Given the description of an element on the screen output the (x, y) to click on. 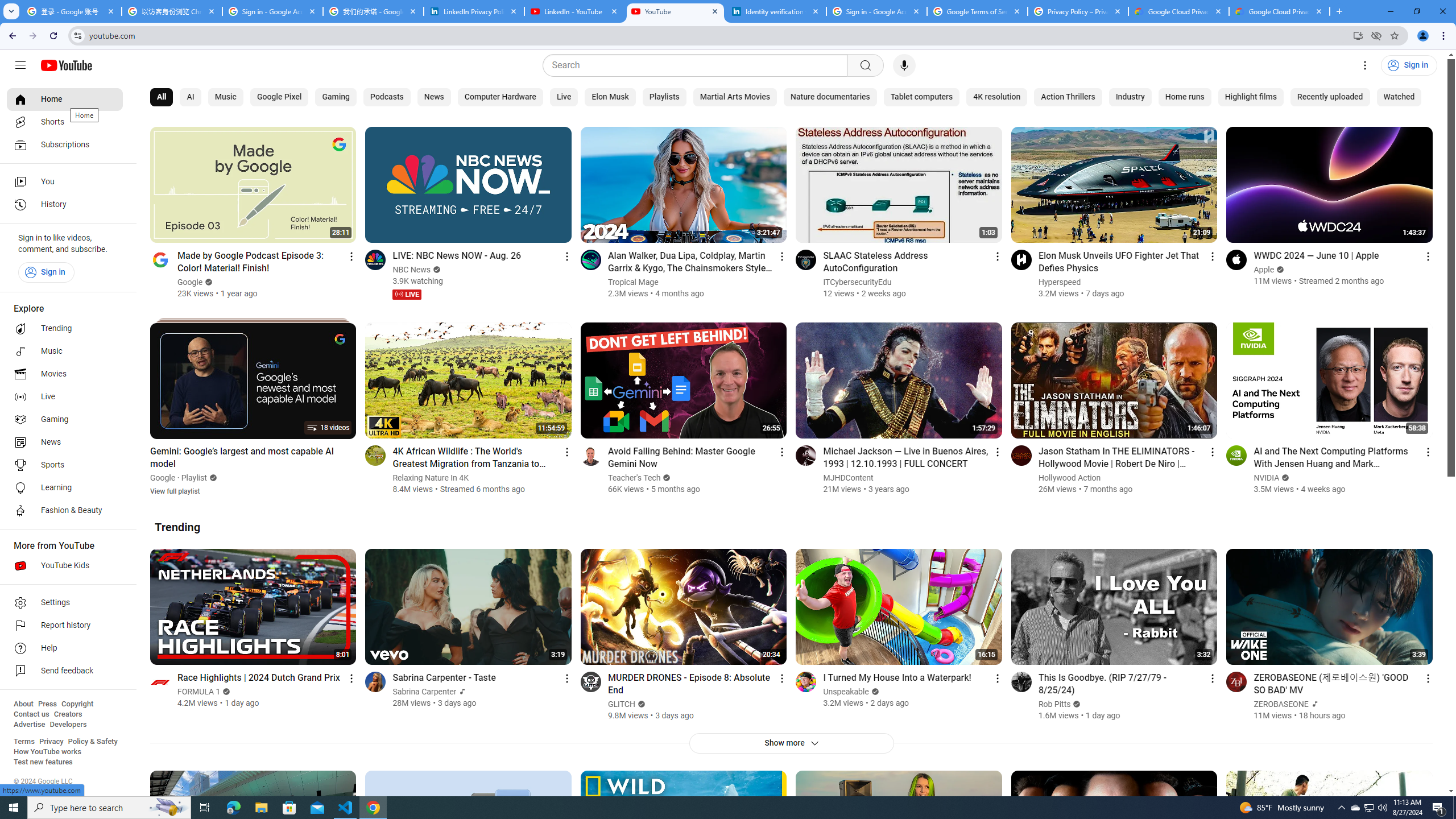
GLITCH (621, 704)
ITCybersecurityEdu (857, 282)
Music (225, 97)
Nature documentaries (829, 97)
News (433, 97)
Industry (1129, 97)
Verified (1075, 704)
View full playlist (174, 490)
Martial Arts Movies (735, 97)
Google (162, 477)
LIVE: NBC News NOW - Aug. 26 by NBC News 61,506 views (457, 255)
History (64, 204)
